Given the description of an element on the screen output the (x, y) to click on. 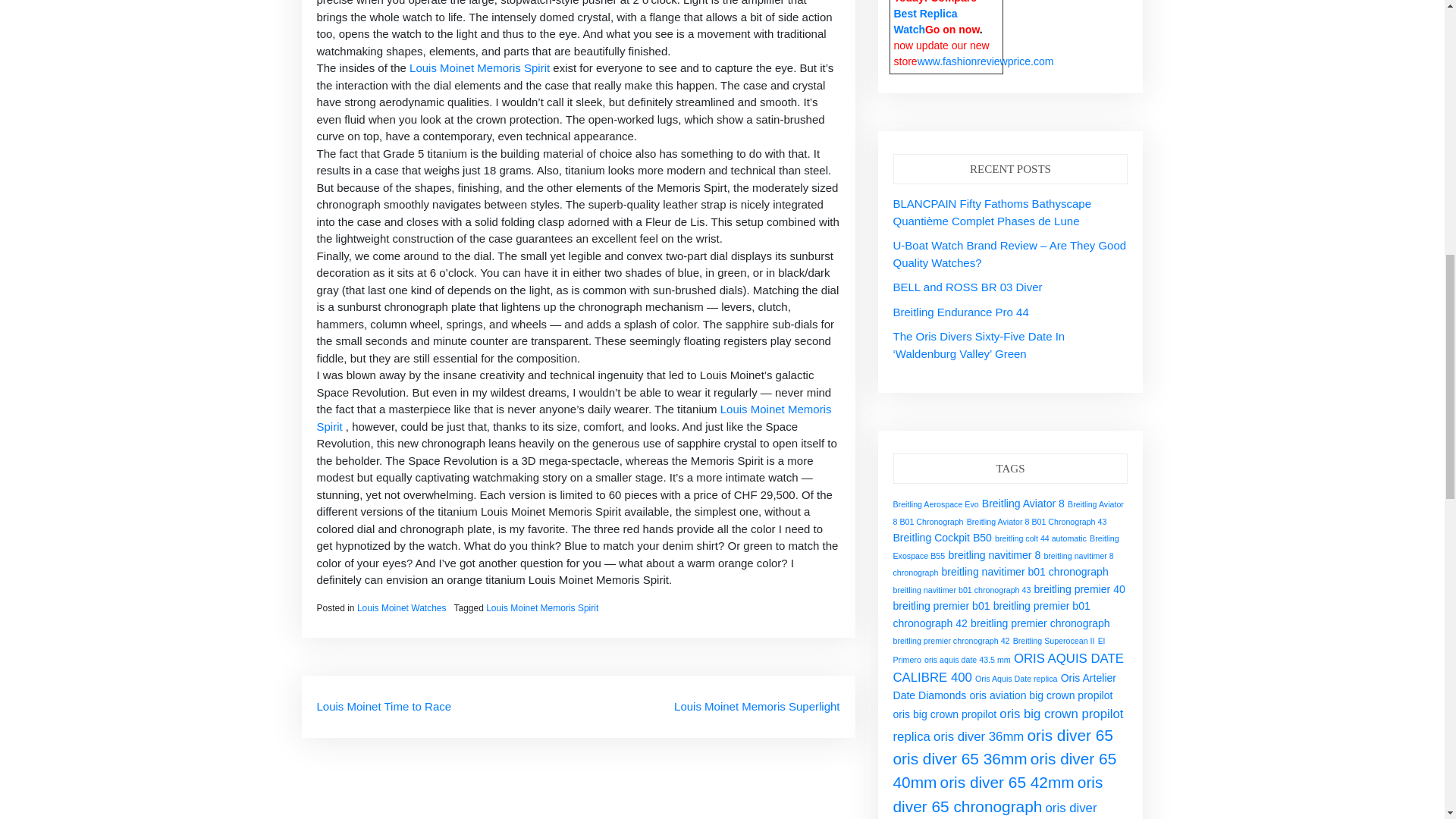
Breitling Aerospace Evo (935, 503)
Breitling Aviator 8 B01 Chronograph (1008, 512)
Breitling Endurance Pro 44 (961, 311)
Breitling Aviator 8 (1022, 503)
Breitling Cockpit B50 (942, 537)
Louis Moinet Memoris Spirit (542, 606)
BELL and ROSS BR 03 Diver (967, 286)
Louis Moinet Memoris Superlight (757, 705)
Louis Moinet Time to Race (384, 705)
www.fashionreviewprice.com (985, 61)
Louis Moinet Watches (401, 606)
Louis Moinet Memoris Spirit (479, 67)
Best Replica Watch (924, 21)
breitling colt 44 automatic (1040, 537)
Louis Moinet Memoris Spirit (574, 417)
